Given the description of an element on the screen output the (x, y) to click on. 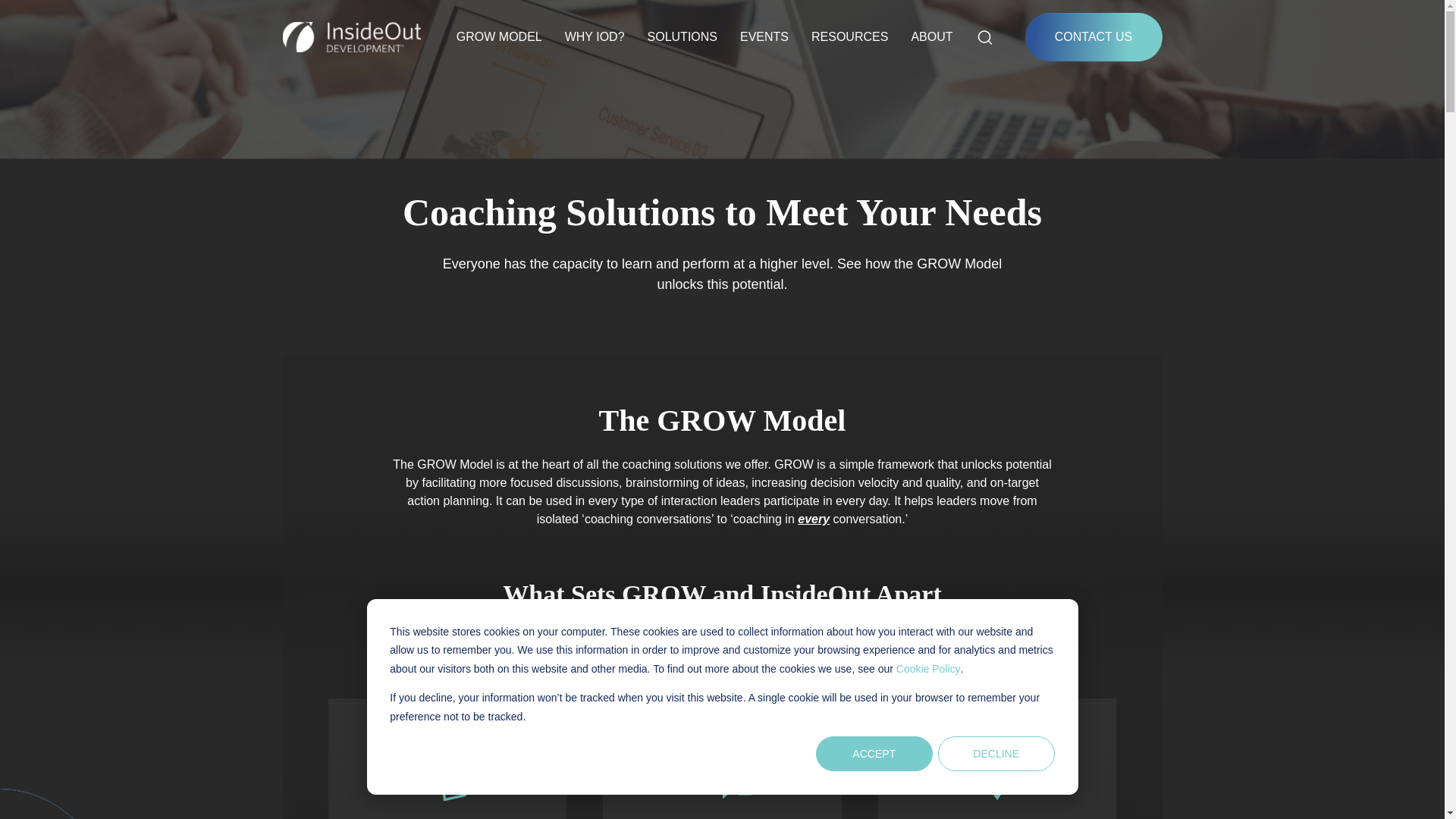
CONTACT US (1093, 37)
Contact Us (1093, 37)
SOLUTIONS (682, 37)
RESOURCES (849, 37)
GROW MODEL (499, 37)
